Given the description of an element on the screen output the (x, y) to click on. 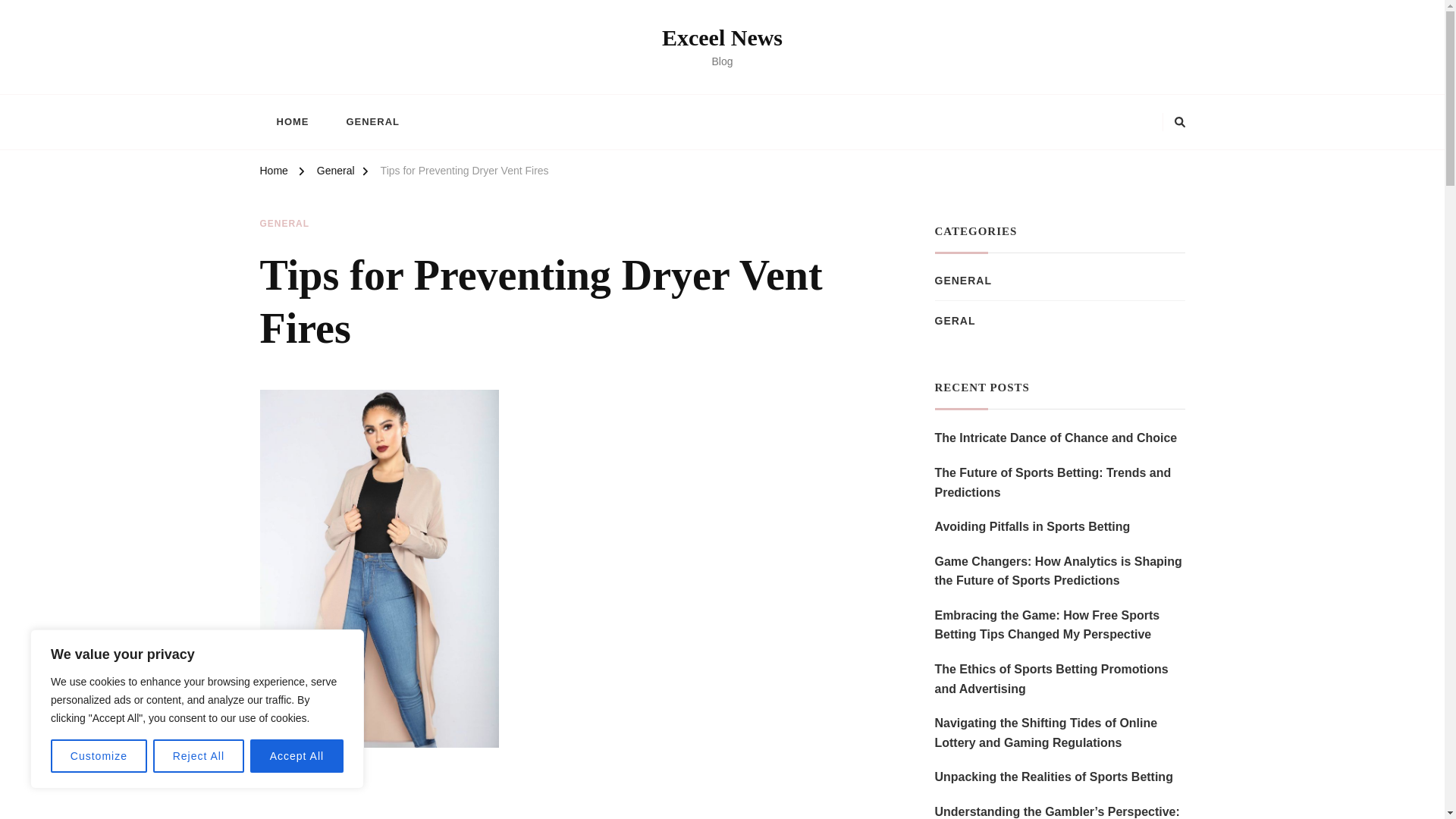
Accept All (296, 756)
Exceel News (722, 37)
GENERAL (371, 121)
Home (272, 172)
Customize (98, 756)
HOME (291, 121)
General (336, 172)
GENERAL (283, 223)
Reject All (198, 756)
Tips for Preventing Dryer Vent Fires (464, 172)
